Given the description of an element on the screen output the (x, y) to click on. 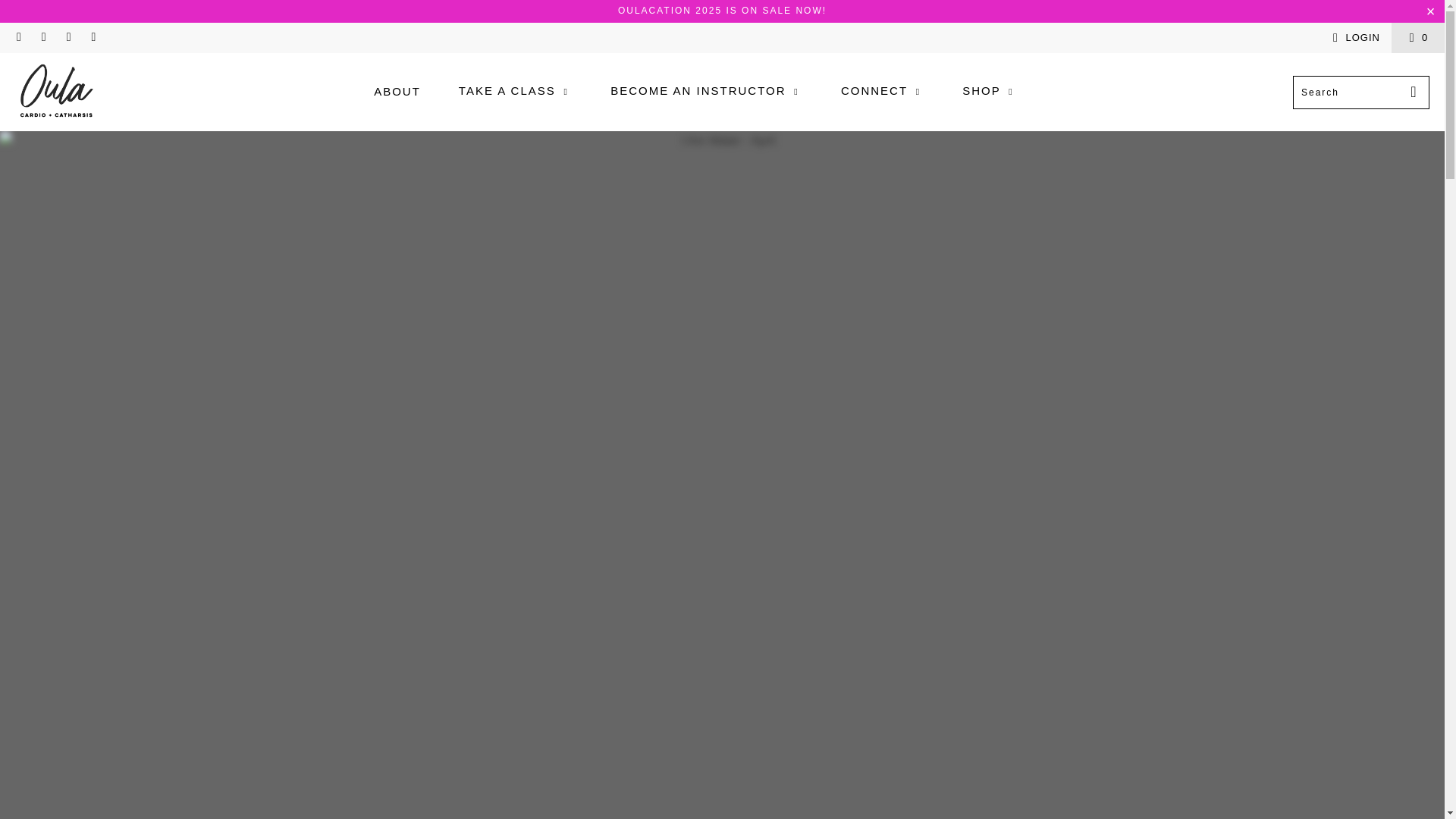
Oula on TikTok (92, 37)
Email Oula (17, 37)
My Account  (1353, 37)
Oula on Facebook (42, 37)
Oula (56, 91)
Oula on Instagram (68, 37)
